Given the description of an element on the screen output the (x, y) to click on. 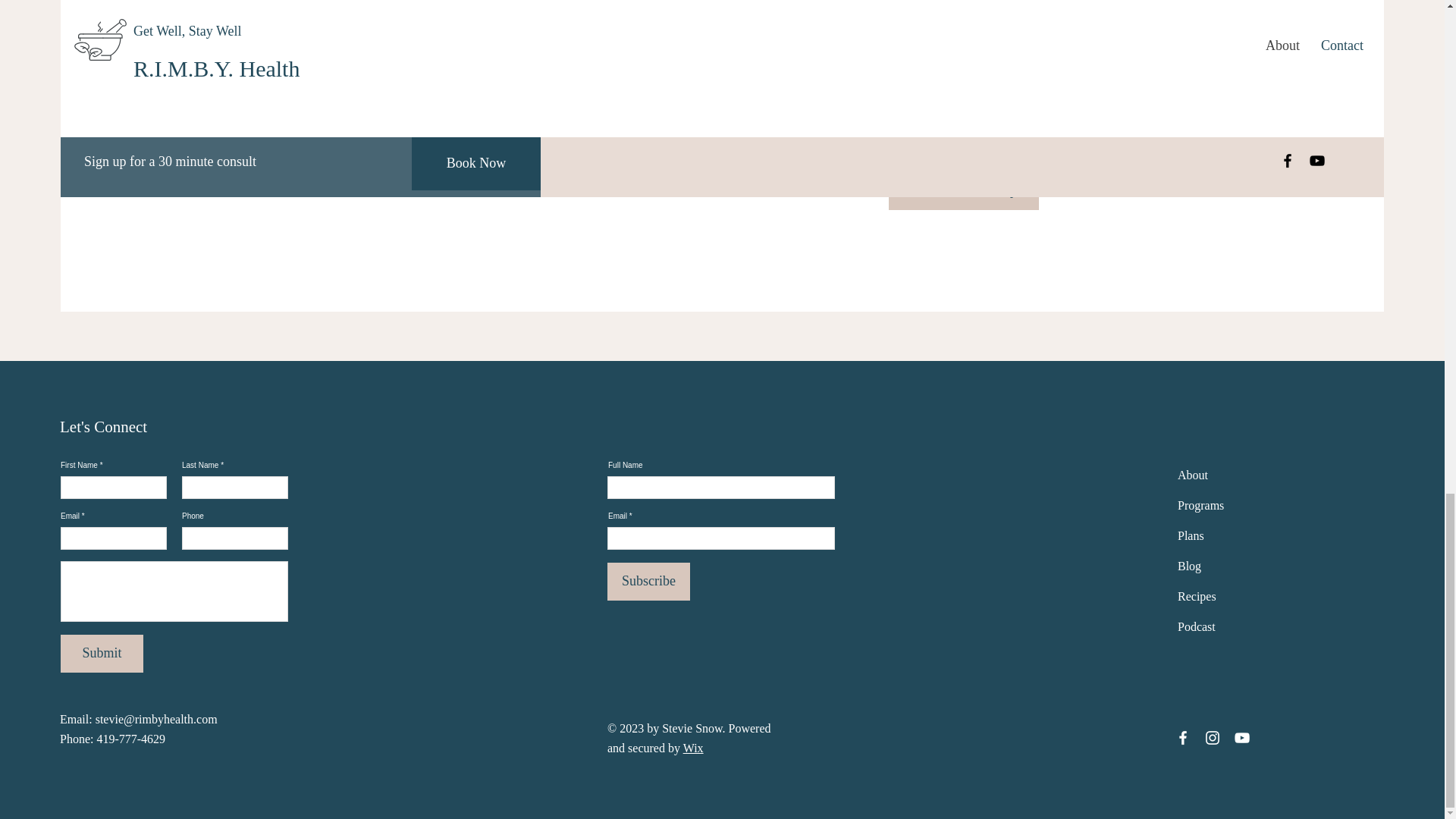
Submit (101, 653)
About (1192, 474)
Blog (1189, 565)
Plans (1190, 535)
Podcast (1196, 626)
Subscribe (648, 581)
Wix (692, 748)
Recipes (1196, 595)
Programs (1200, 504)
Join The Workshop (963, 190)
